Given the description of an element on the screen output the (x, y) to click on. 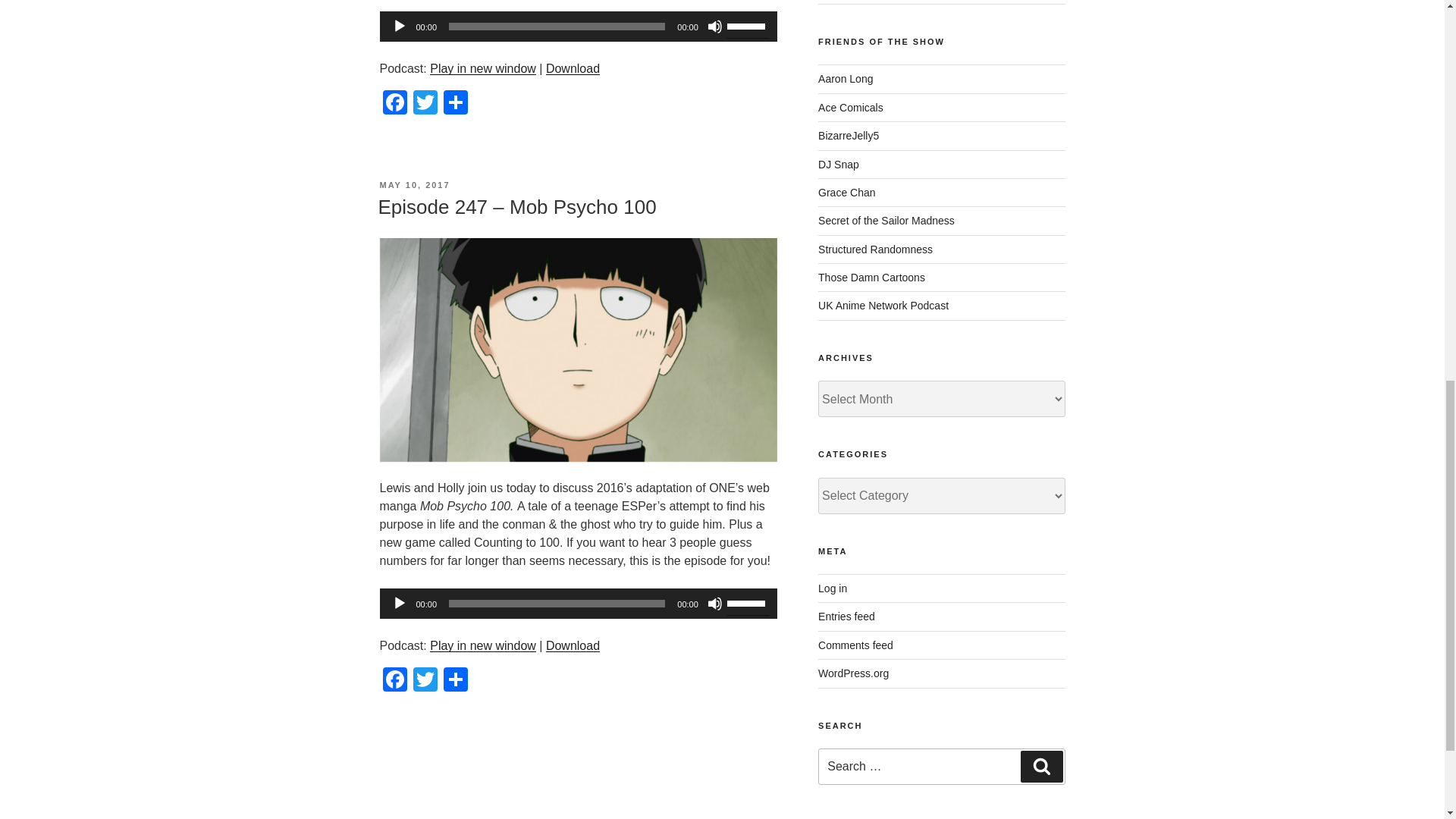
Mute (714, 26)
Twitter (424, 103)
Download (572, 645)
Mute (714, 603)
Download (572, 645)
A clear-eyed and passionate look at Japanese animation (871, 277)
Animator Grace! (846, 192)
Facebook (393, 103)
Play in new window (482, 68)
Play (398, 26)
Play in new window (482, 645)
Play in new window (482, 645)
Download (572, 68)
Twitter (424, 103)
Facebook (393, 681)
